Given the description of an element on the screen output the (x, y) to click on. 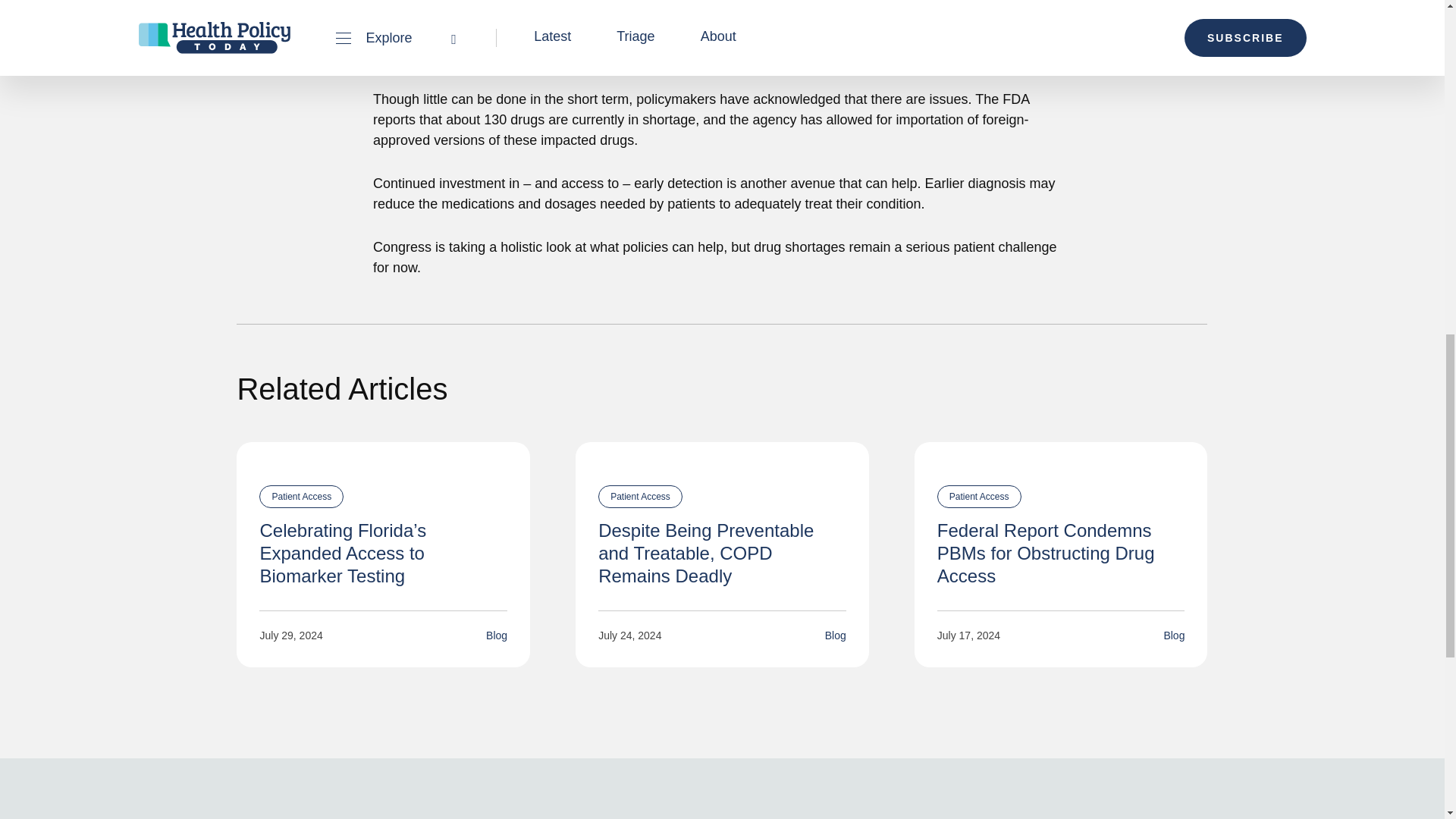
Despite Being Preventable and Treatable, COPD Remains Deadly (705, 553)
Patient Access (640, 496)
Blog (496, 635)
Blog (835, 635)
Federal Report Condemns PBMs for Obstructing Drug Access (1045, 553)
Patient Access (301, 496)
Blog (1174, 635)
Patient Access (979, 496)
